Given the description of an element on the screen output the (x, y) to click on. 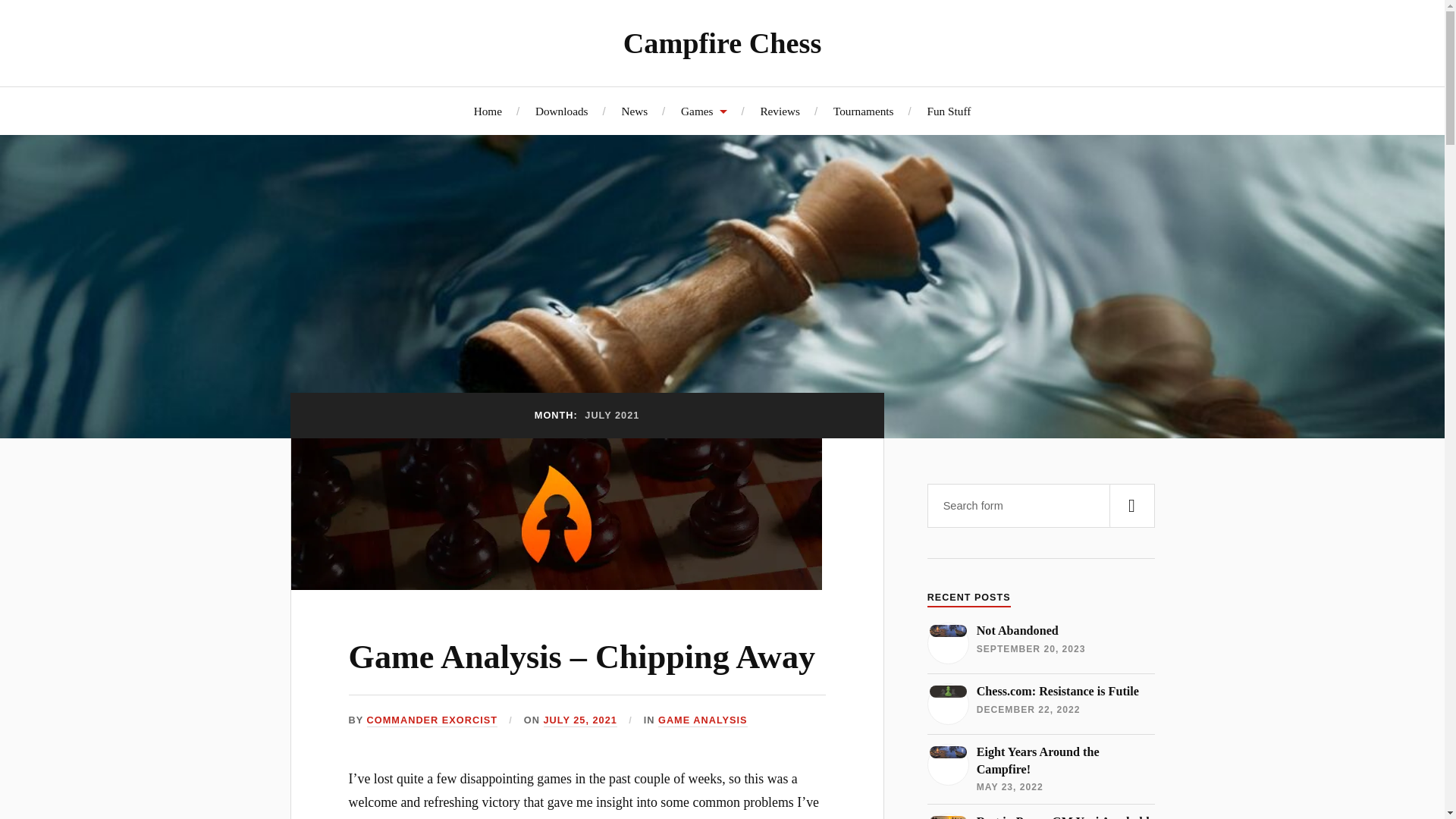
Games (703, 110)
Campfire Chess (722, 42)
Downloads (561, 110)
Fun Stuff (948, 110)
Posts by Commander Exorcist (431, 720)
GAME ANALYSIS (703, 720)
JULY 25, 2021 (579, 720)
Tournaments (862, 110)
COMMANDER EXORCIST (431, 720)
